Given the description of an element on the screen output the (x, y) to click on. 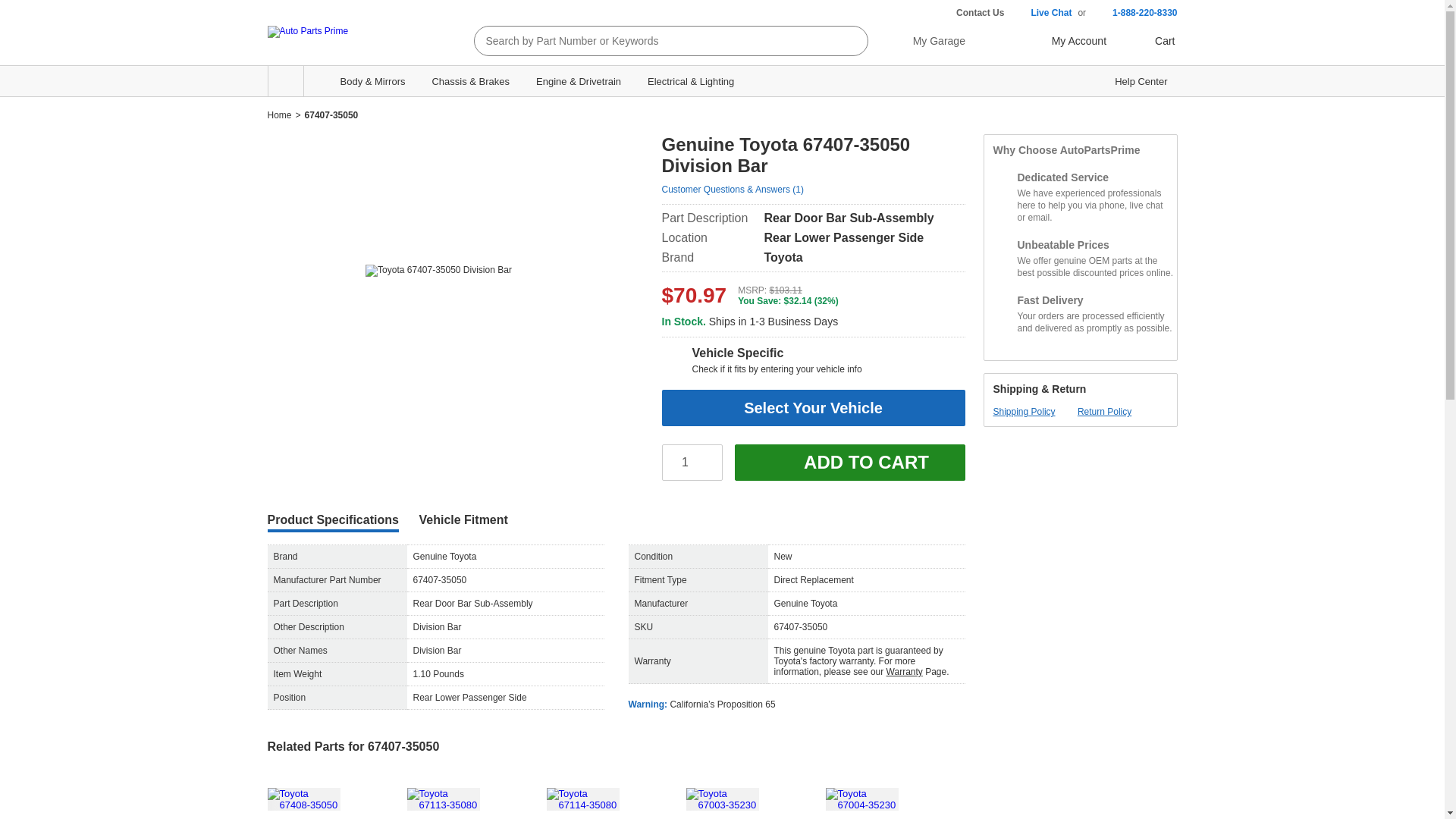
Home (278, 114)
ADD TO CART (848, 462)
Return Policy (1104, 411)
Live Chat (1040, 13)
Search by Part Number or Keywords (657, 40)
1-888-220-8330 (1134, 13)
Home (278, 114)
Shipping Policy (1023, 411)
Warranty (904, 671)
1 (691, 462)
Add OEM Toyota 67407-35050 to Cart (848, 462)
